Given the description of an element on the screen output the (x, y) to click on. 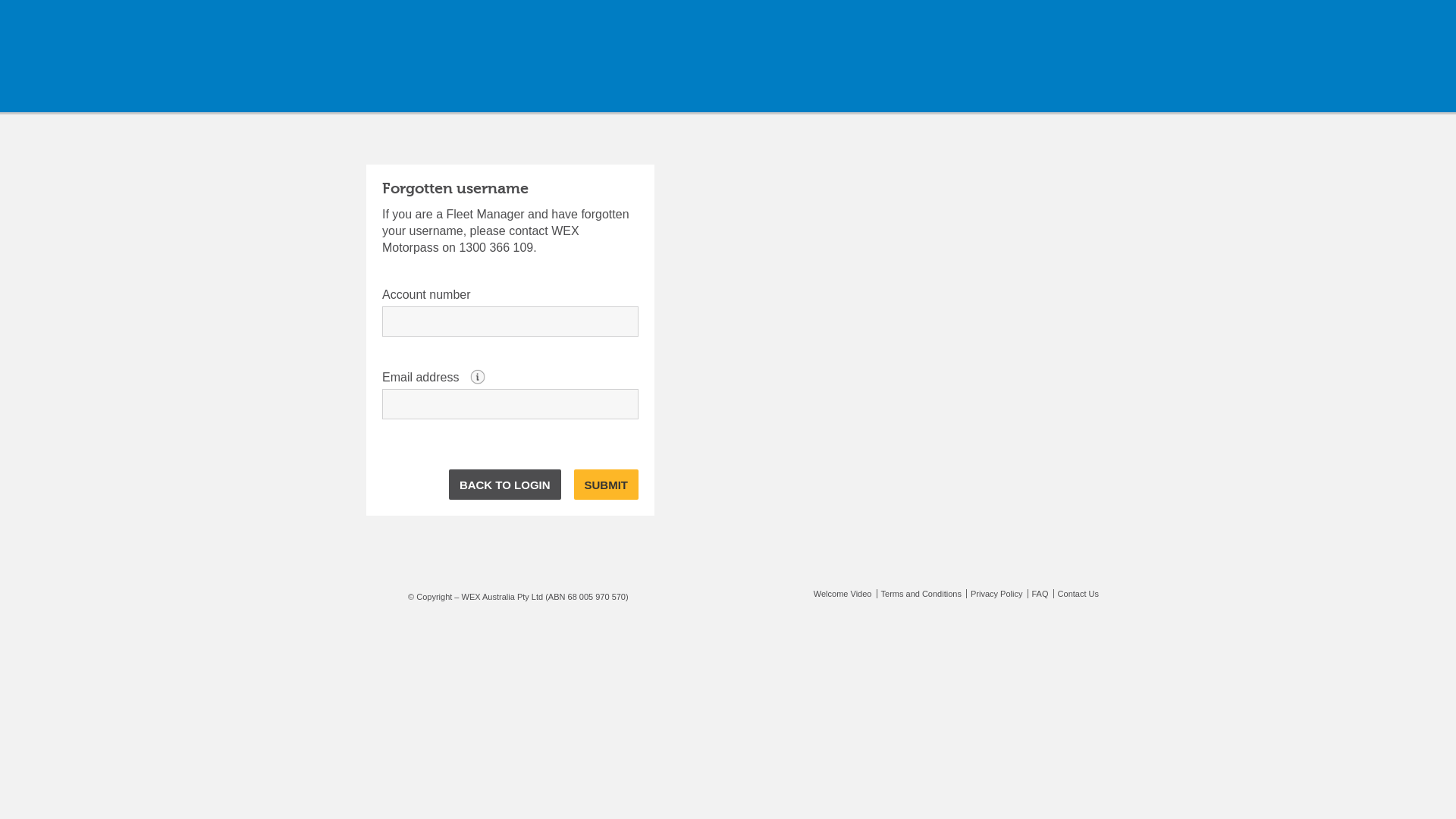
Contact Us Element type: text (1075, 593)
Privacy Policy Element type: text (994, 593)
FAQ Element type: text (1037, 593)
Welcome Video Element type: text (842, 593)
BACK TO LOGIN Element type: text (504, 484)
Submit Element type: text (605, 484)
Terms and Conditions Element type: text (918, 593)
